Given the description of an element on the screen output the (x, y) to click on. 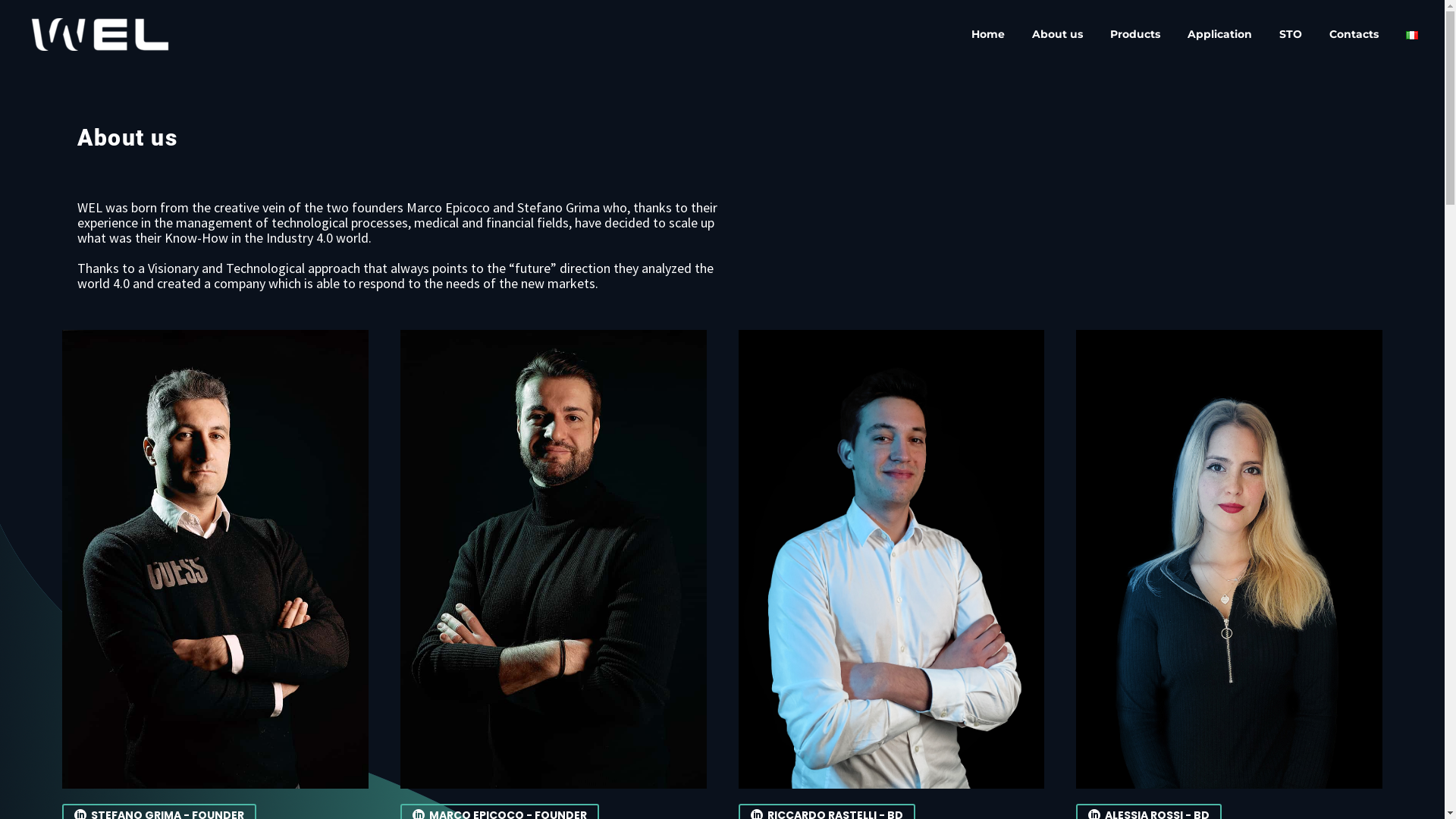
Products Element type: text (1134, 34)
STO Element type: text (1290, 34)
Contacts Element type: text (1353, 34)
Home Element type: text (988, 34)
About us Element type: text (1057, 34)
Application Element type: text (1219, 34)
